Given the description of an element on the screen output the (x, y) to click on. 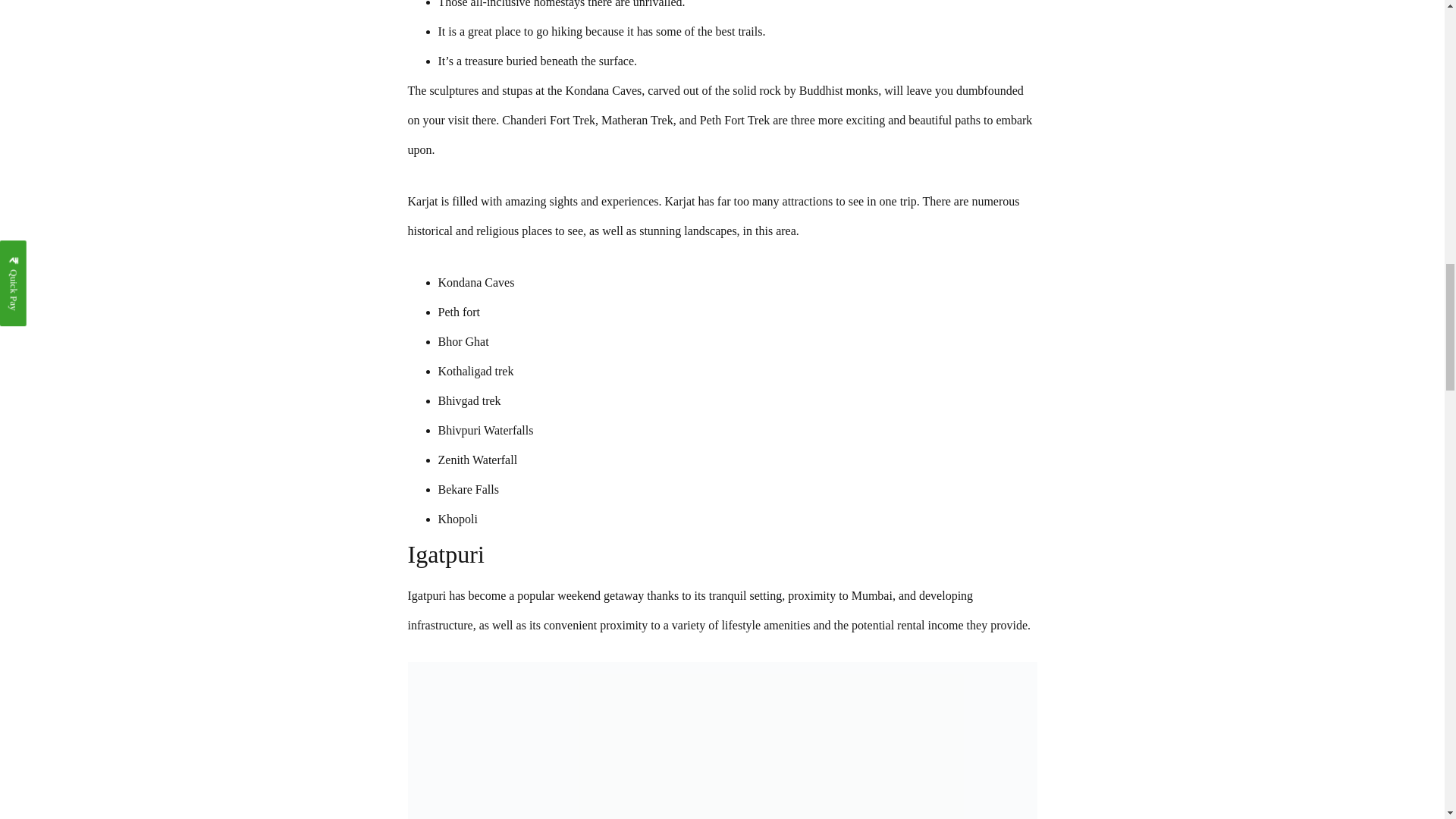
Igatpuri Vs Karjat Which Is Better? 2 (721, 740)
